Given the description of an element on the screen output the (x, y) to click on. 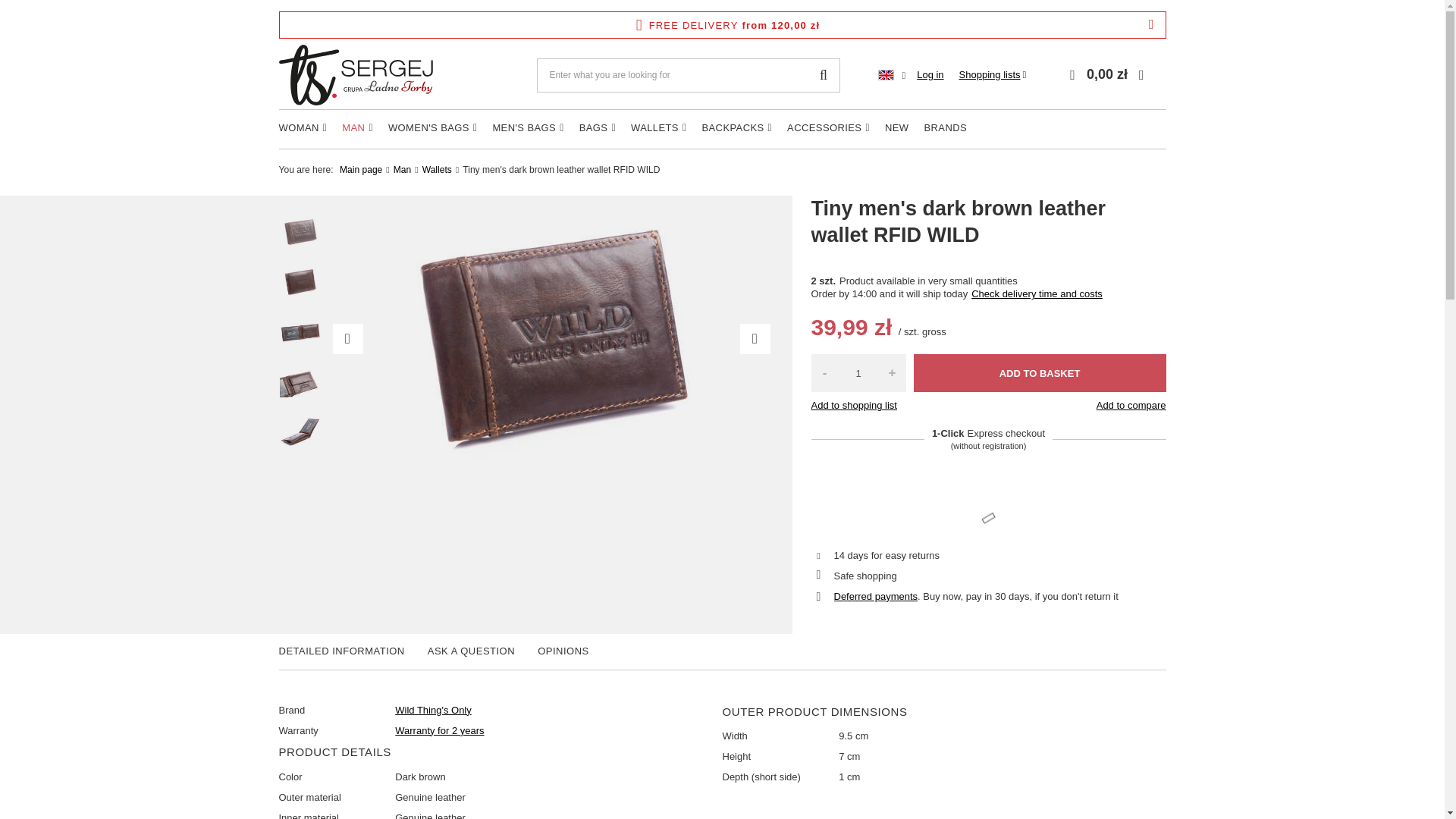
1 (858, 372)
MAN (357, 128)
WOMEN'S BAGS (432, 128)
Wallets (658, 128)
Men's bags (527, 128)
Accessories (827, 128)
Log in (930, 74)
Women's Bags (432, 128)
WOMAN (302, 128)
Brands (944, 128)
Bags (597, 128)
Man (357, 128)
New (897, 128)
Backpacks (736, 128)
Shopping lists (992, 74)
